Given the description of an element on the screen output the (x, y) to click on. 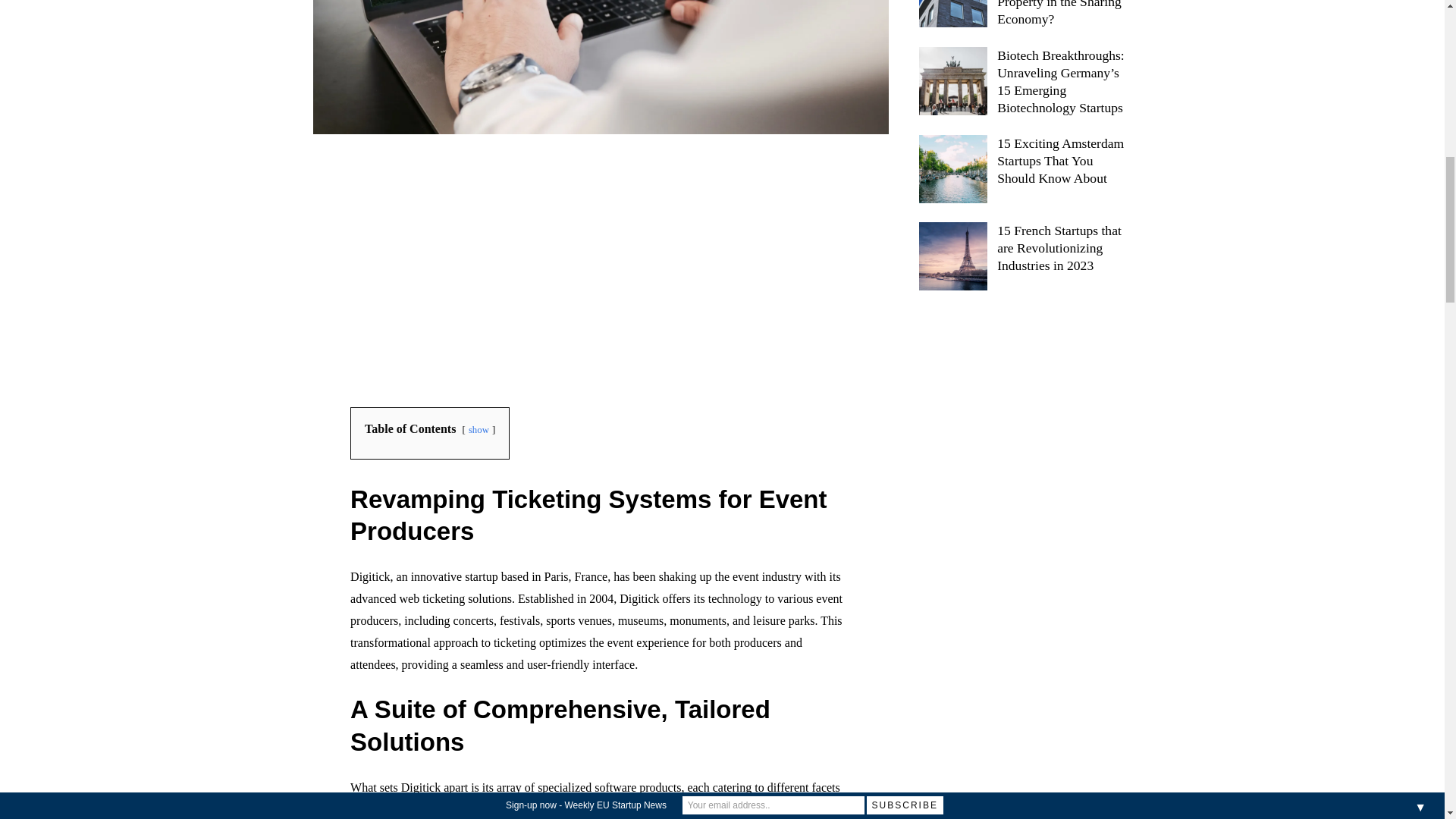
show (478, 429)
Advertisement (600, 270)
